Given the description of an element on the screen output the (x, y) to click on. 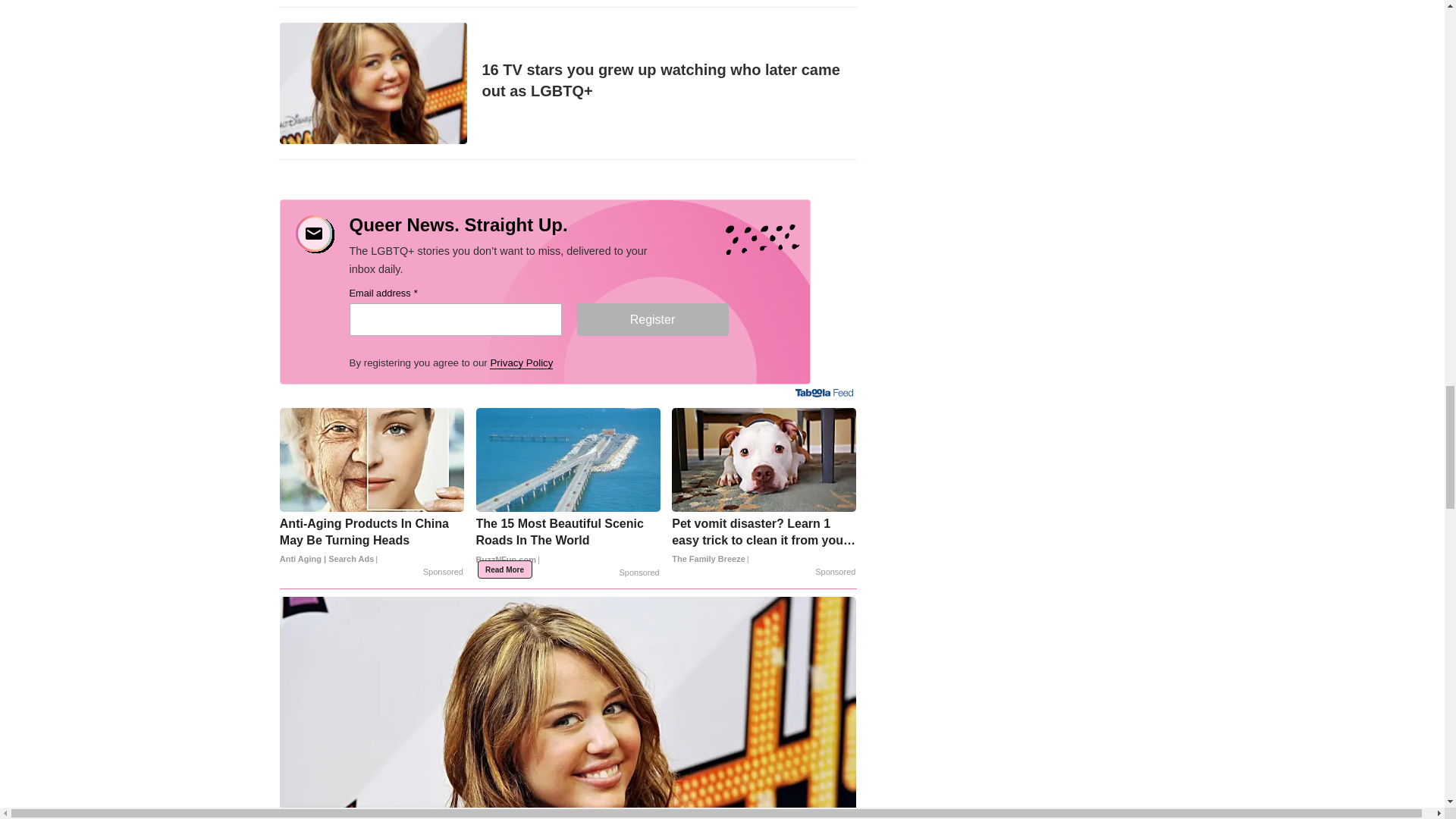
The 15 Most Beautiful Scenic Roads In The World (568, 546)
